Given the description of an element on the screen output the (x, y) to click on. 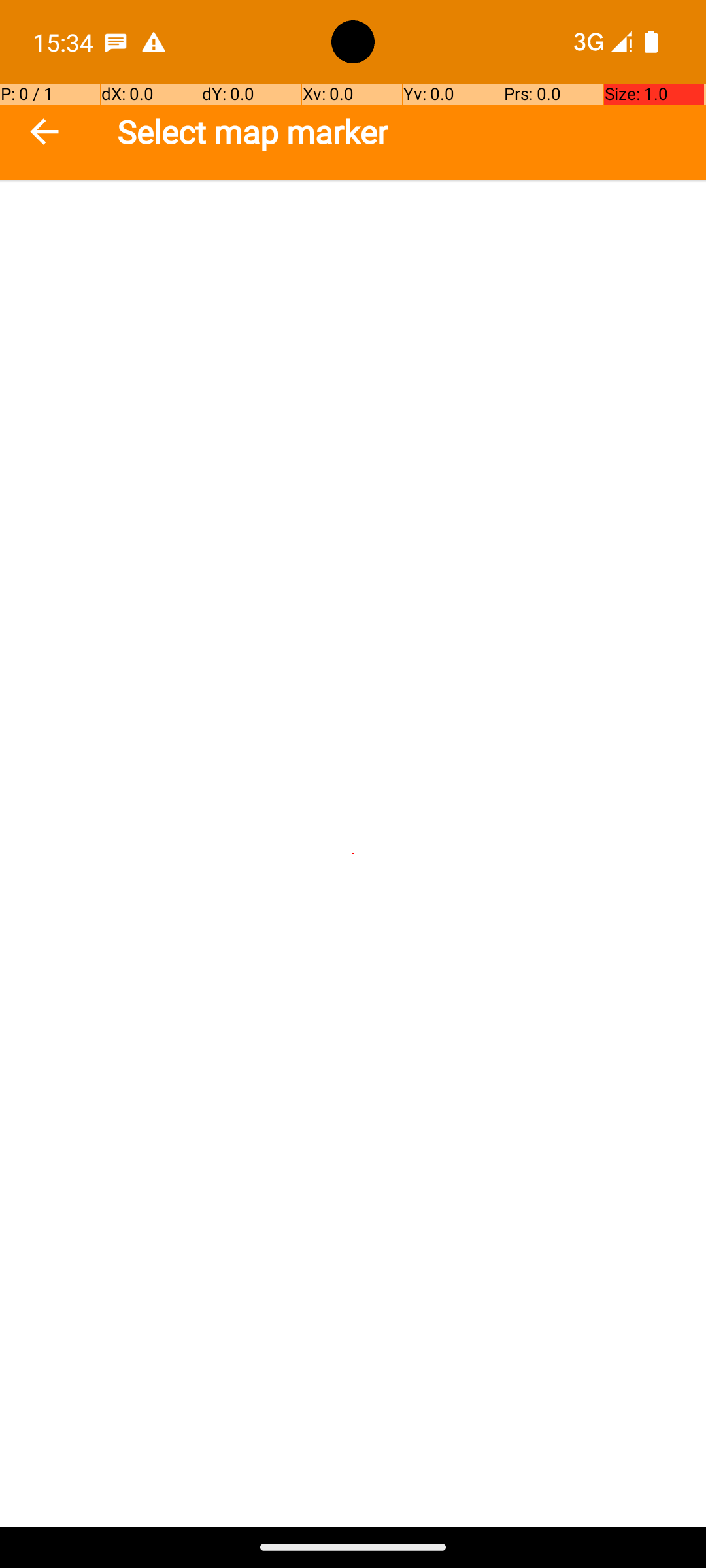
Select map marker Element type: android.widget.TextView (252, 131)
